Given the description of an element on the screen output the (x, y) to click on. 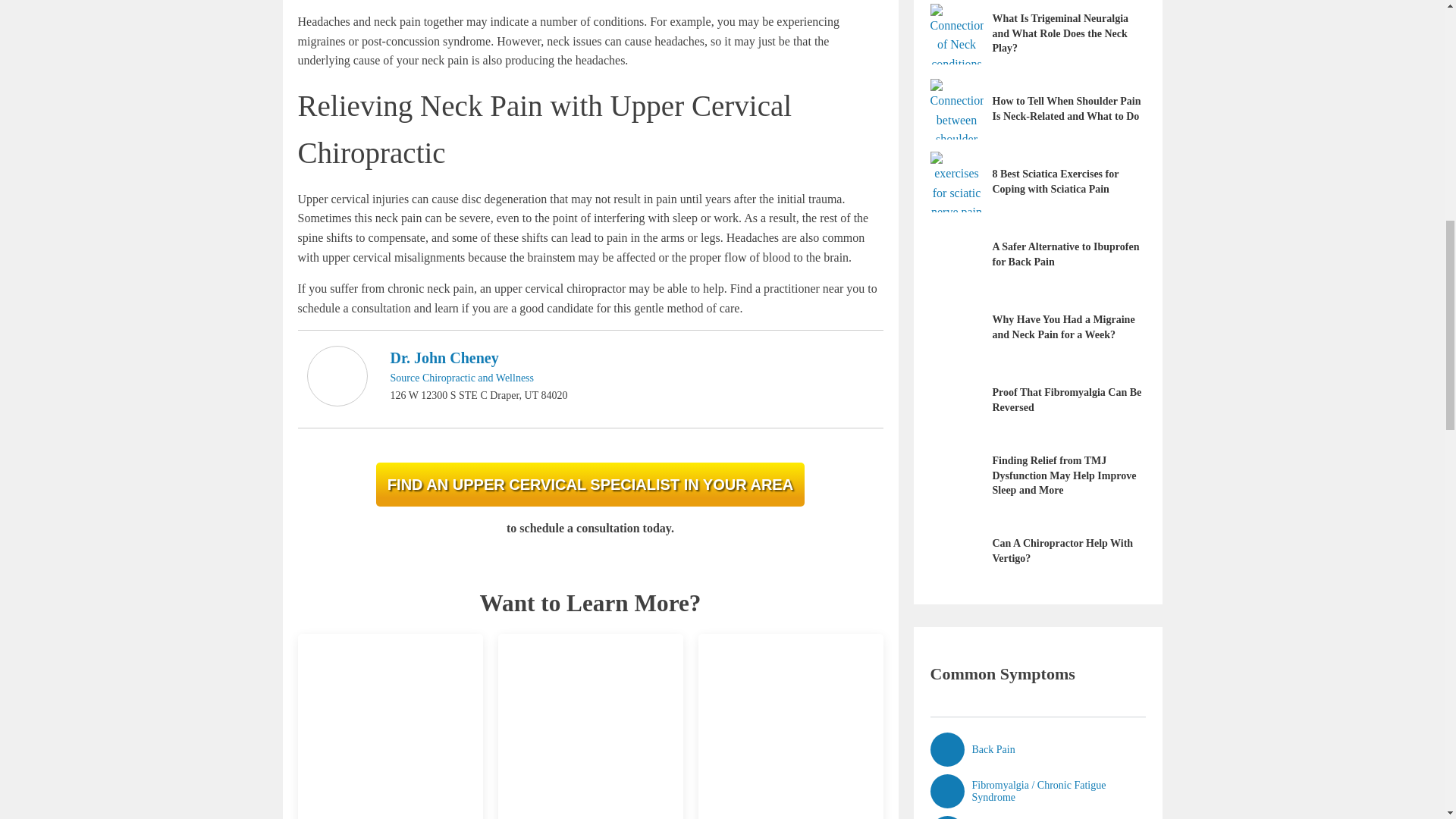
FIND AN UPPER CERVICAL SPECIALIST IN YOUR AREA (590, 484)
Source Chiropractic and Wellness (462, 378)
Dr. John Cheney (443, 357)
